Given the description of an element on the screen output the (x, y) to click on. 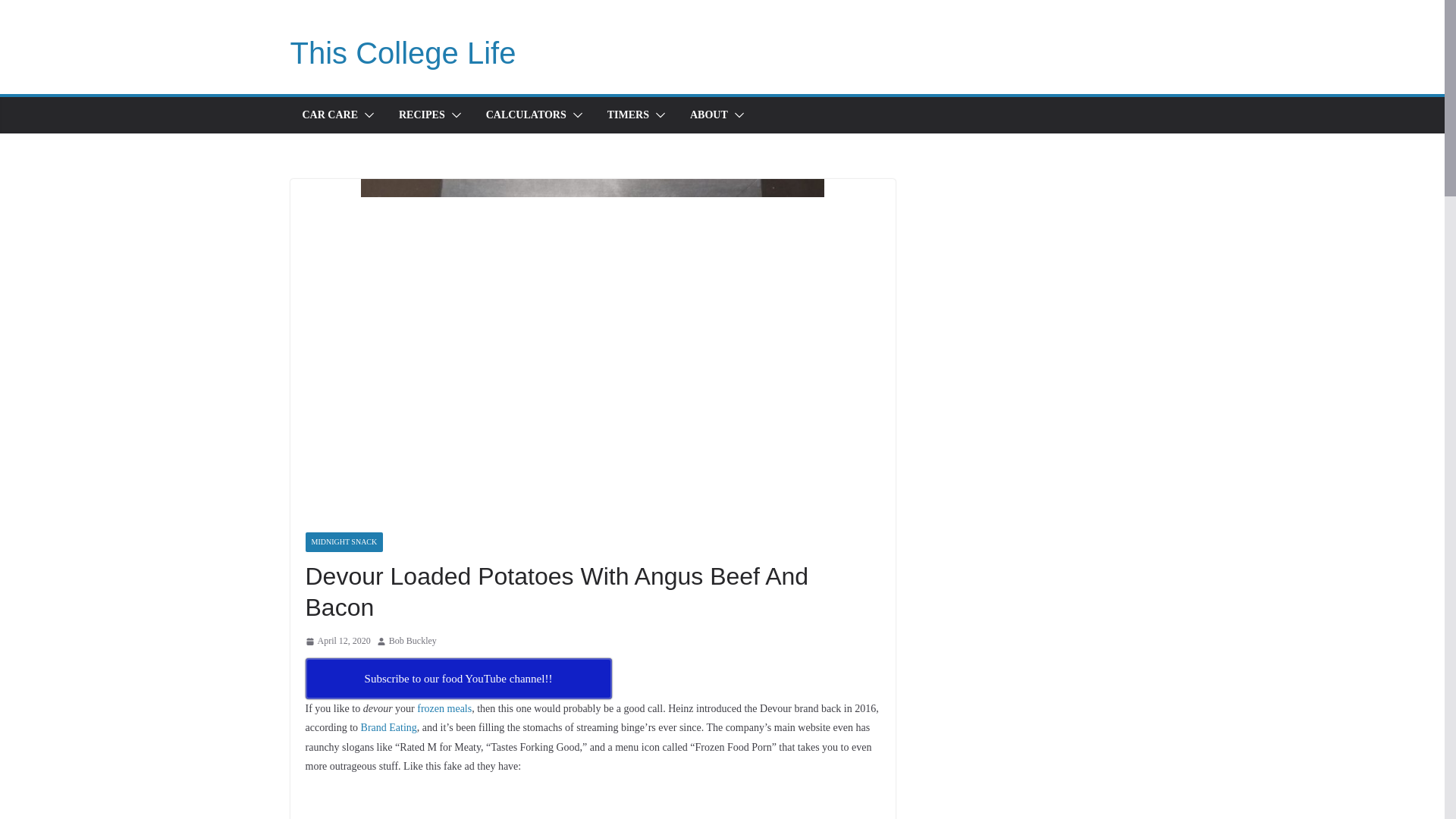
TIMERS (628, 115)
CAR CARE (329, 115)
Subscribe to our YouTube channel!!! (457, 678)
1:41 pm (336, 641)
Bob Buckley (412, 641)
CALCULATORS (526, 115)
This College Life (402, 52)
RECIPES (421, 115)
This College Life (402, 52)
MIDNIGHT SNACK (343, 542)
